Given the description of an element on the screen output the (x, y) to click on. 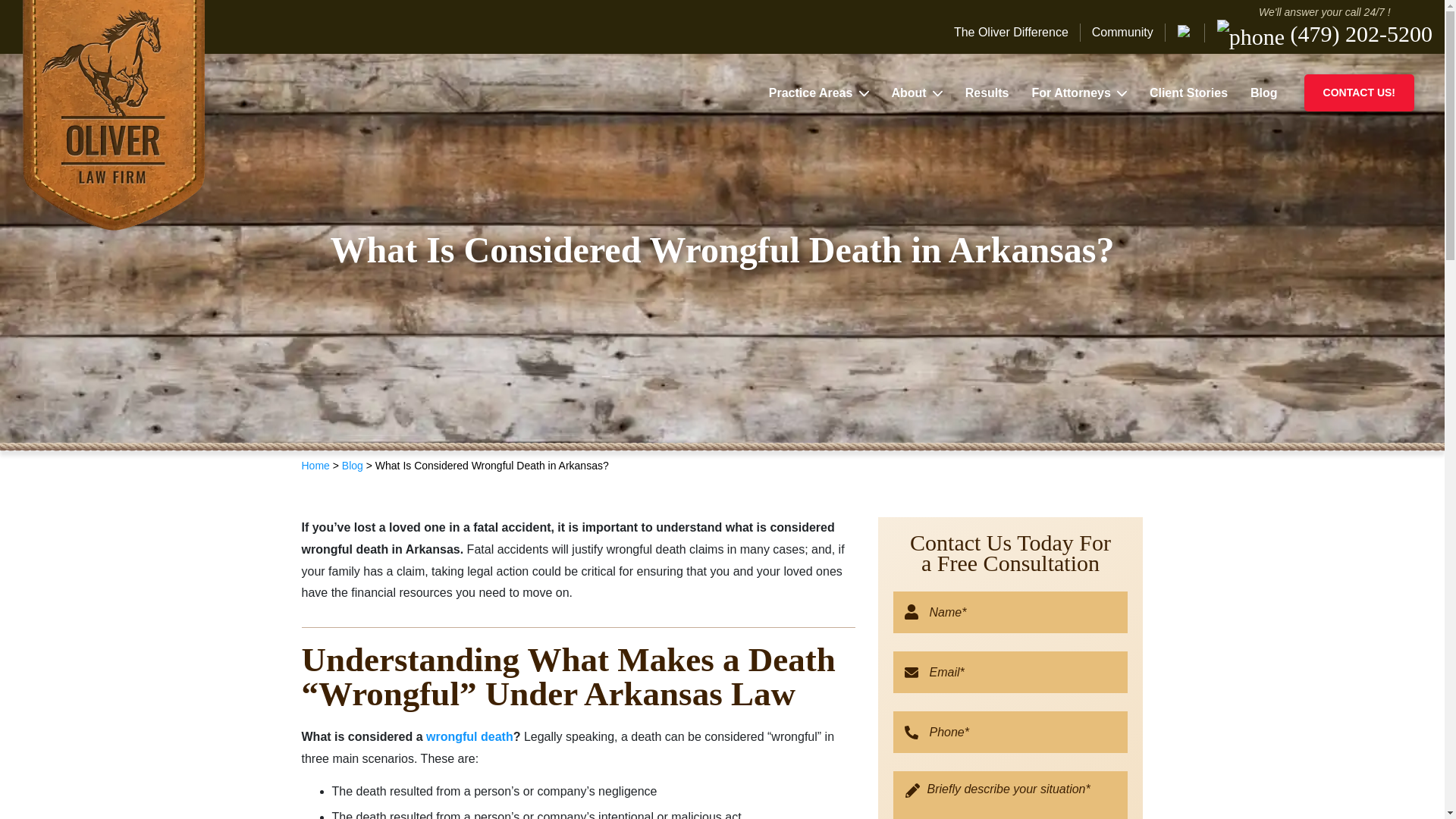
The Oliver Difference (1067, 31)
Community (1173, 31)
CONTACT US! (1358, 89)
Client Stories (1188, 89)
